Given the description of an element on the screen output the (x, y) to click on. 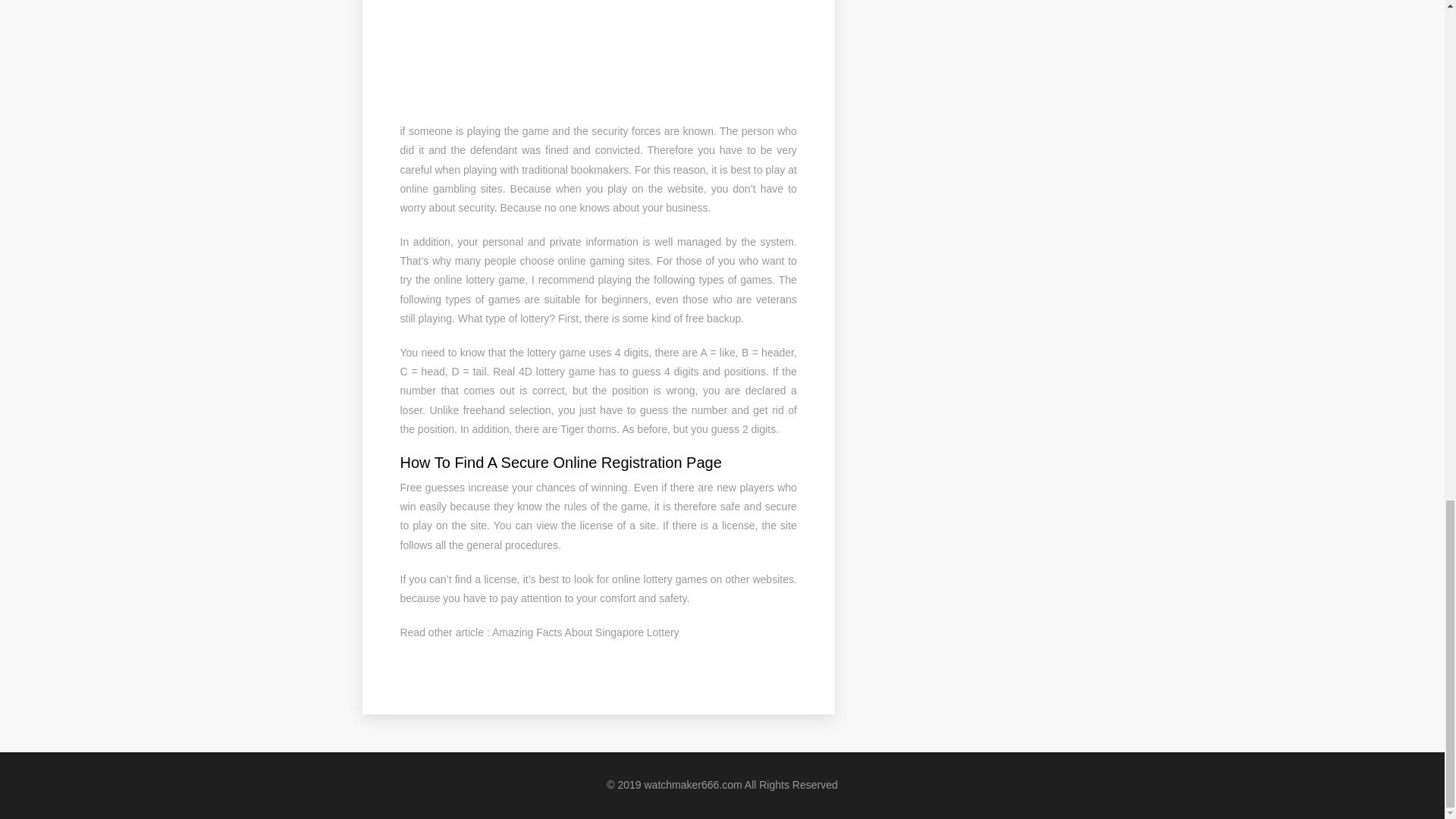
Amazing Facts About Singapore Lottery (585, 632)
